Given the description of an element on the screen output the (x, y) to click on. 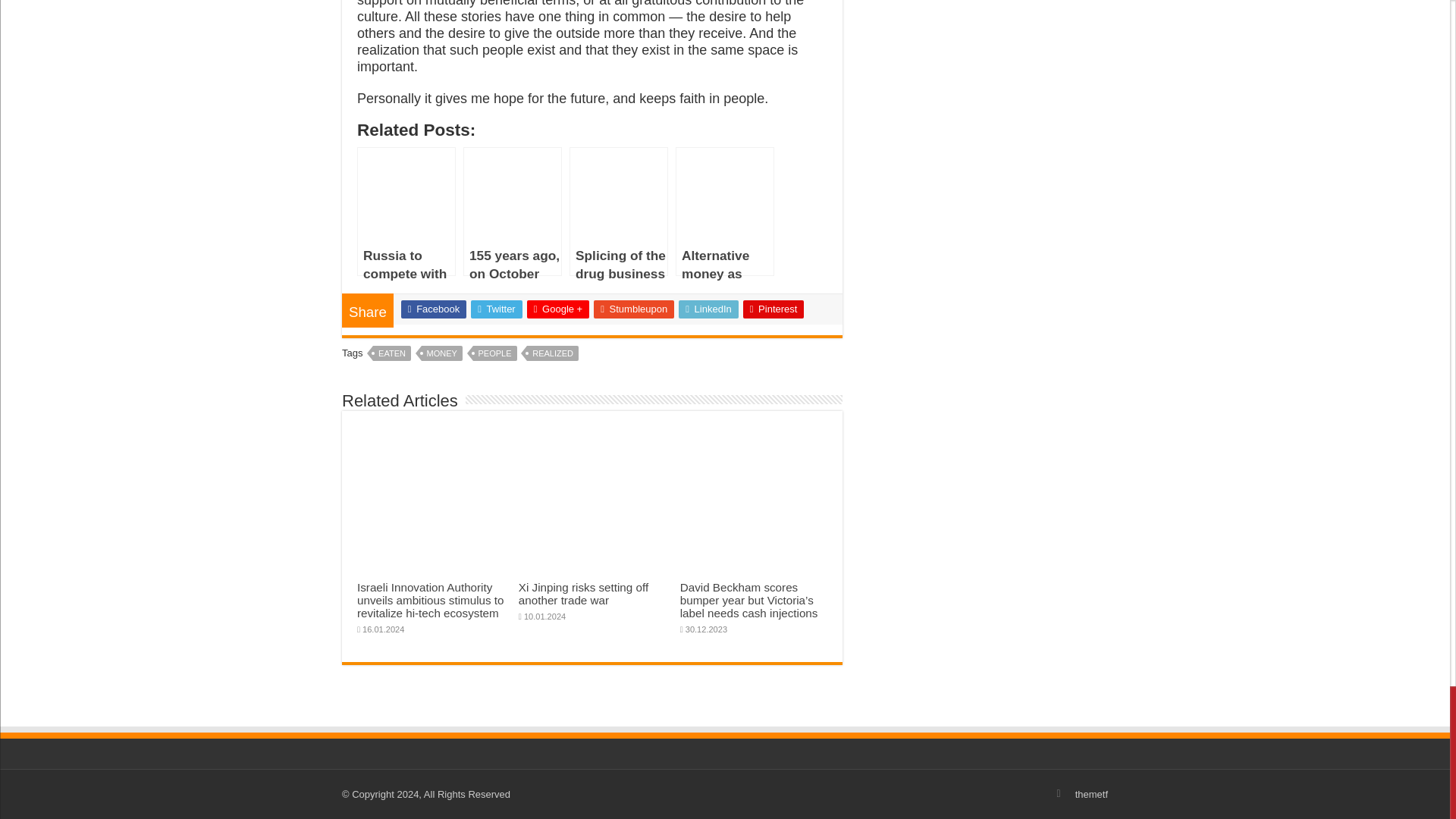
Download Free WordPress Responsive Themes (1091, 794)
Twitter (495, 309)
Facebook (433, 309)
